Given the description of an element on the screen output the (x, y) to click on. 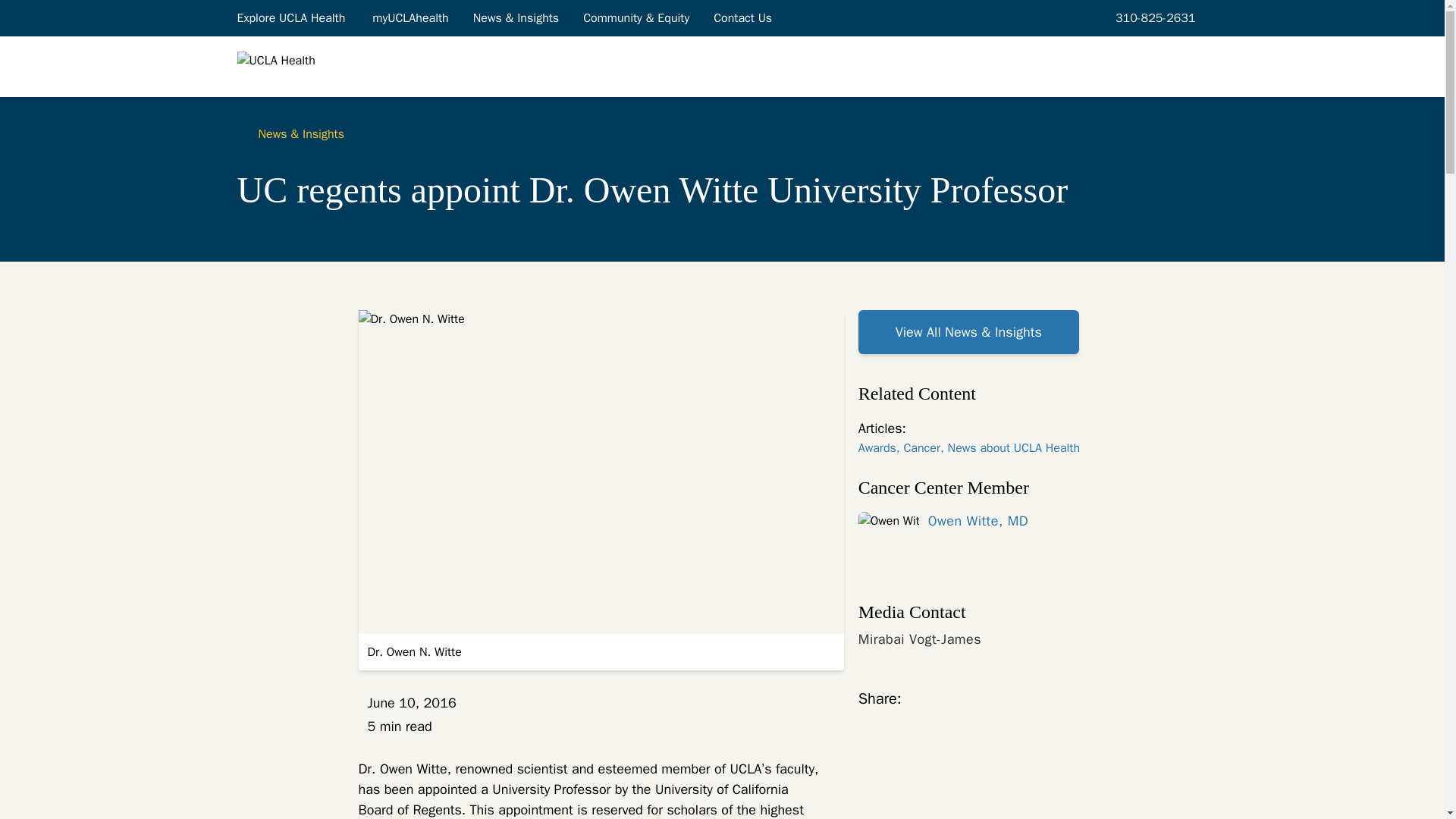
310-825-2631 (1152, 17)
myUCLAhealth Login. (409, 17)
Explore UCLA Health (291, 17)
Contact Us (742, 17)
myUCLAhealth (409, 17)
